Given the description of an element on the screen output the (x, y) to click on. 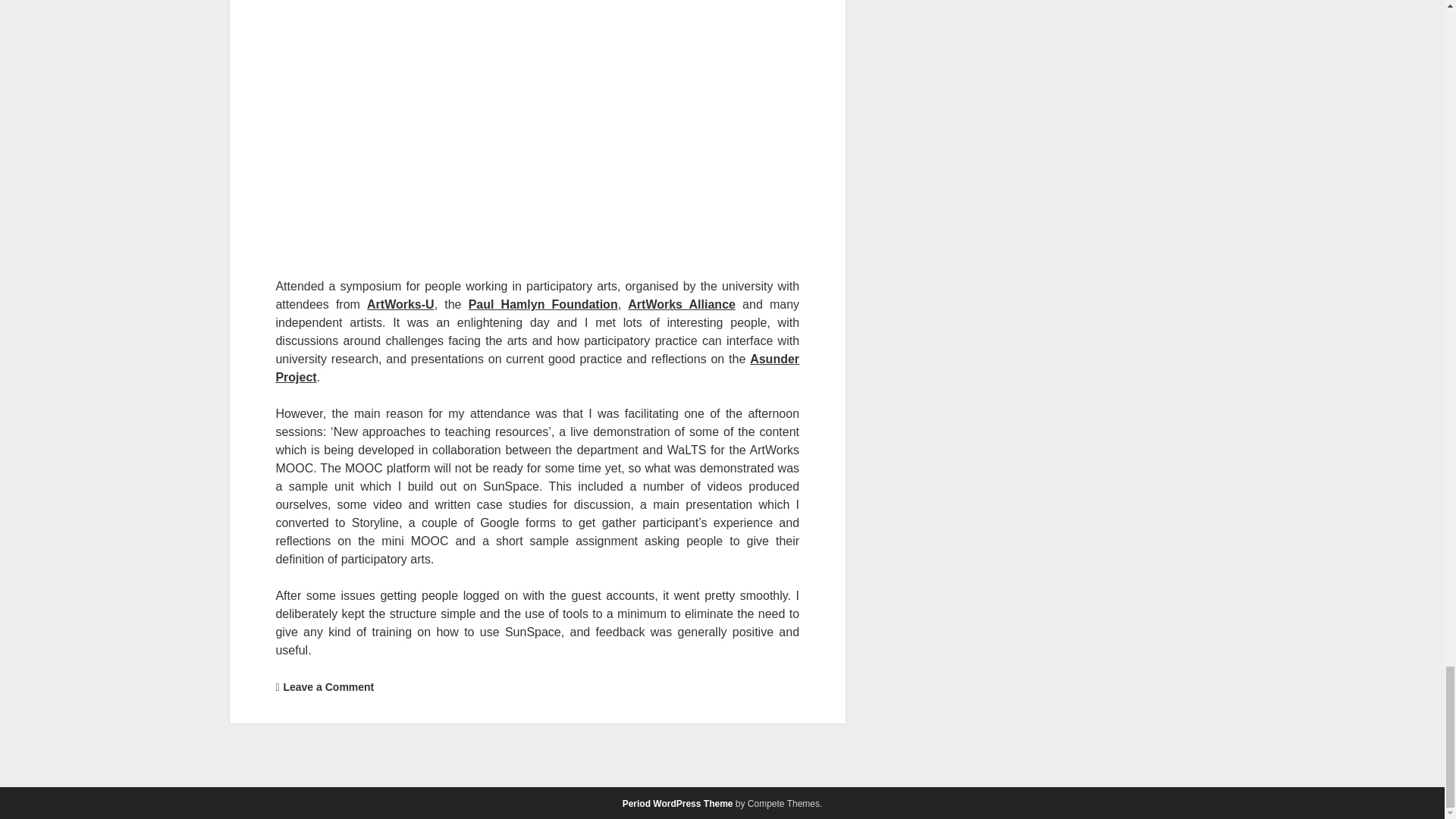
comment icon (277, 687)
